Given the description of an element on the screen output the (x, y) to click on. 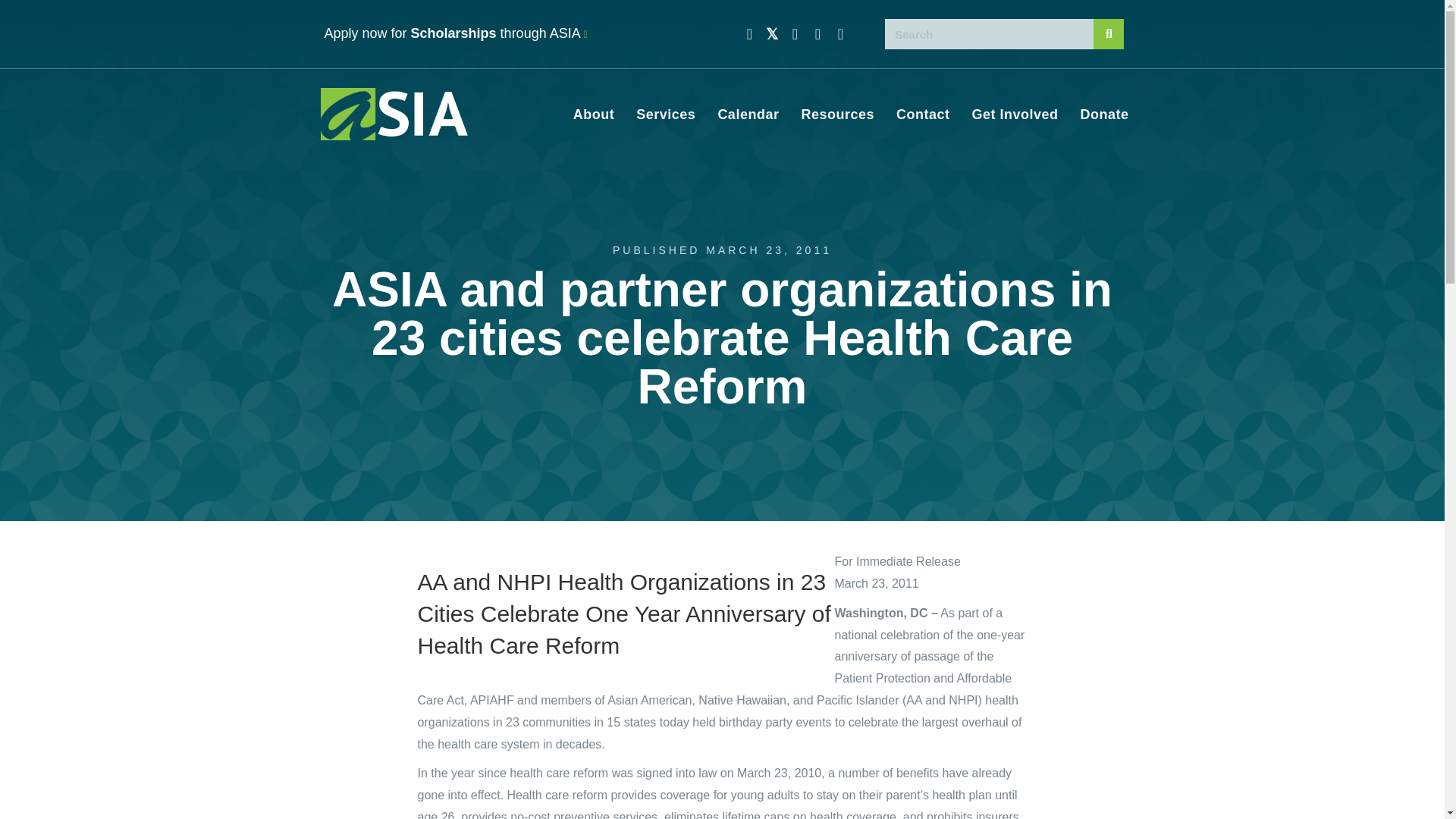
Search (989, 33)
About (593, 114)
Twitter (771, 33)
Facebook (748, 33)
Get Involved (1014, 114)
Services (666, 114)
Apply now for Scholarships through ASIA (456, 33)
Donate (1103, 114)
Resources (837, 114)
Contact (922, 114)
APIAHF (491, 699)
YouTube (817, 33)
Calendar (747, 114)
Instagram (795, 33)
LinkedIn (840, 33)
